Given the description of an element on the screen output the (x, y) to click on. 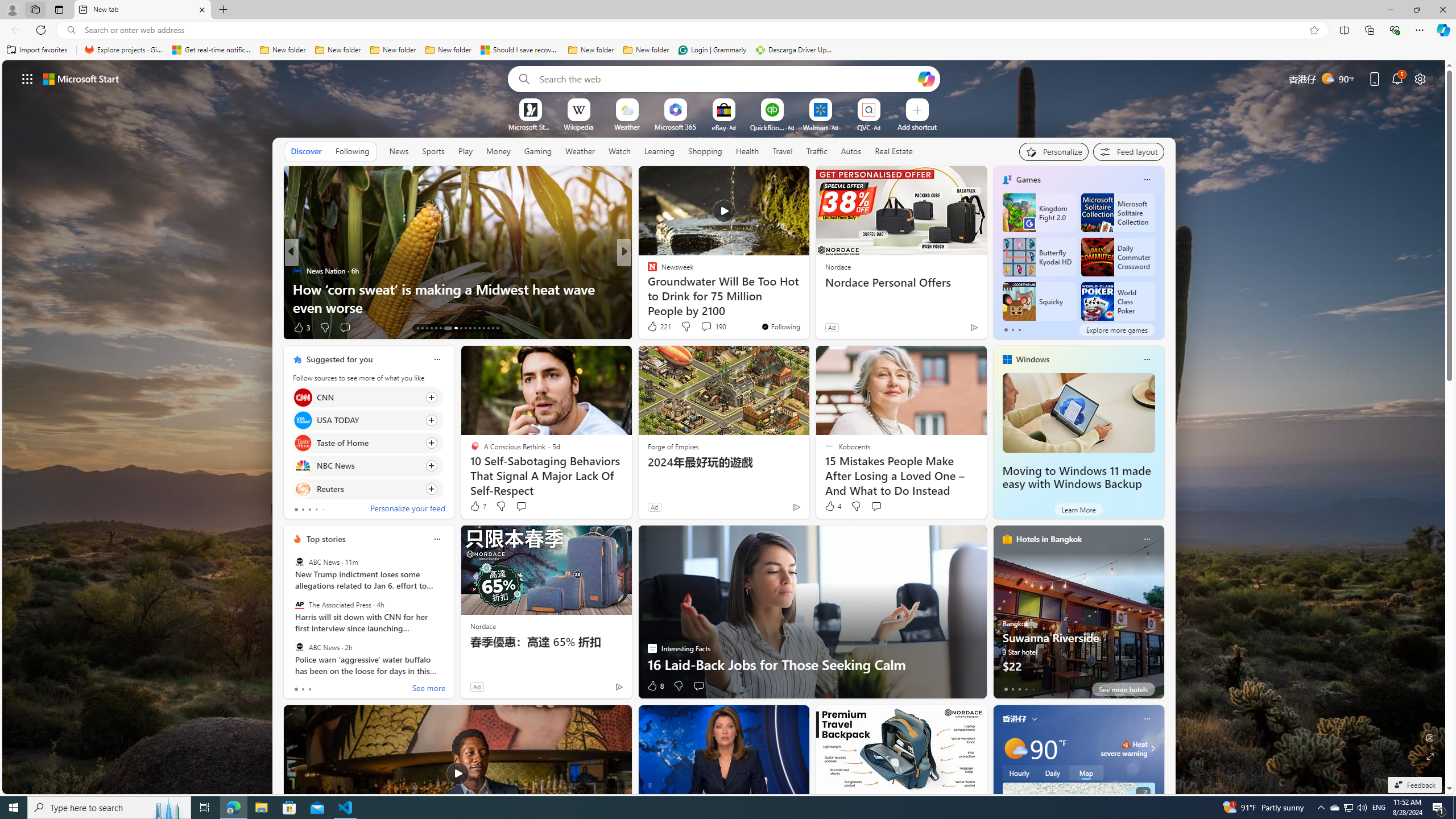
ABC News (299, 646)
AutomationID: tab-16 (431, 328)
Dislike (678, 685)
Class: icon-img (1146, 718)
7 Like (477, 505)
Login | Grammarly (712, 49)
26 Like (652, 327)
AutomationID: tab-19 (444, 328)
Class:   (893, 151)
Refresh (40, 29)
15 Things You Must NOT Do if You Want People to Respect You (807, 298)
Import favorites (36, 49)
